Given the description of an element on the screen output the (x, y) to click on. 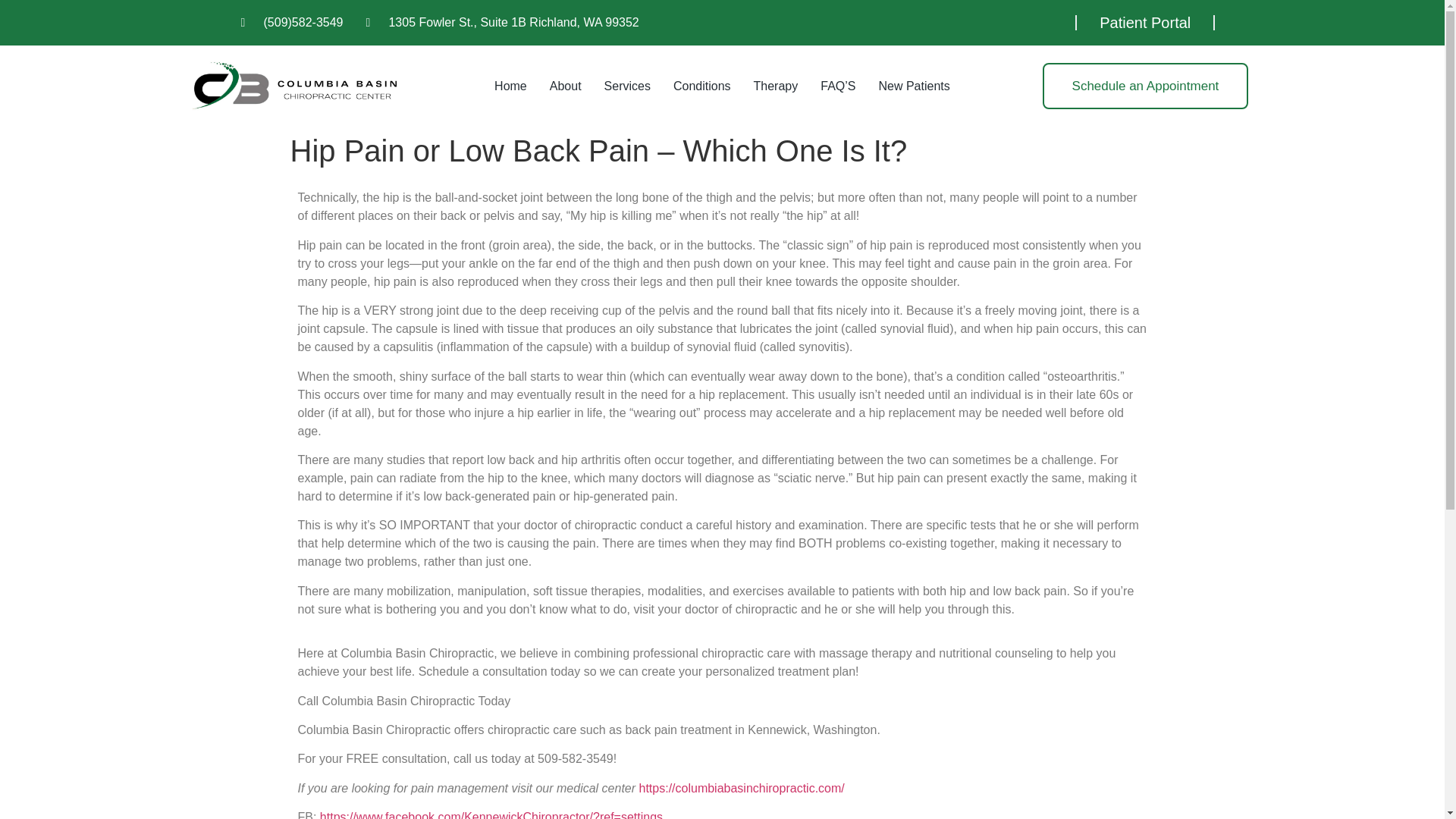
Home (510, 86)
Therapy (775, 86)
About (565, 86)
Patient Portal (1145, 22)
Conditions (702, 86)
Services (627, 86)
1305 Fowler St., Suite 1B Richland, WA 99352 (502, 22)
New Patients (913, 86)
